Given the description of an element on the screen output the (x, y) to click on. 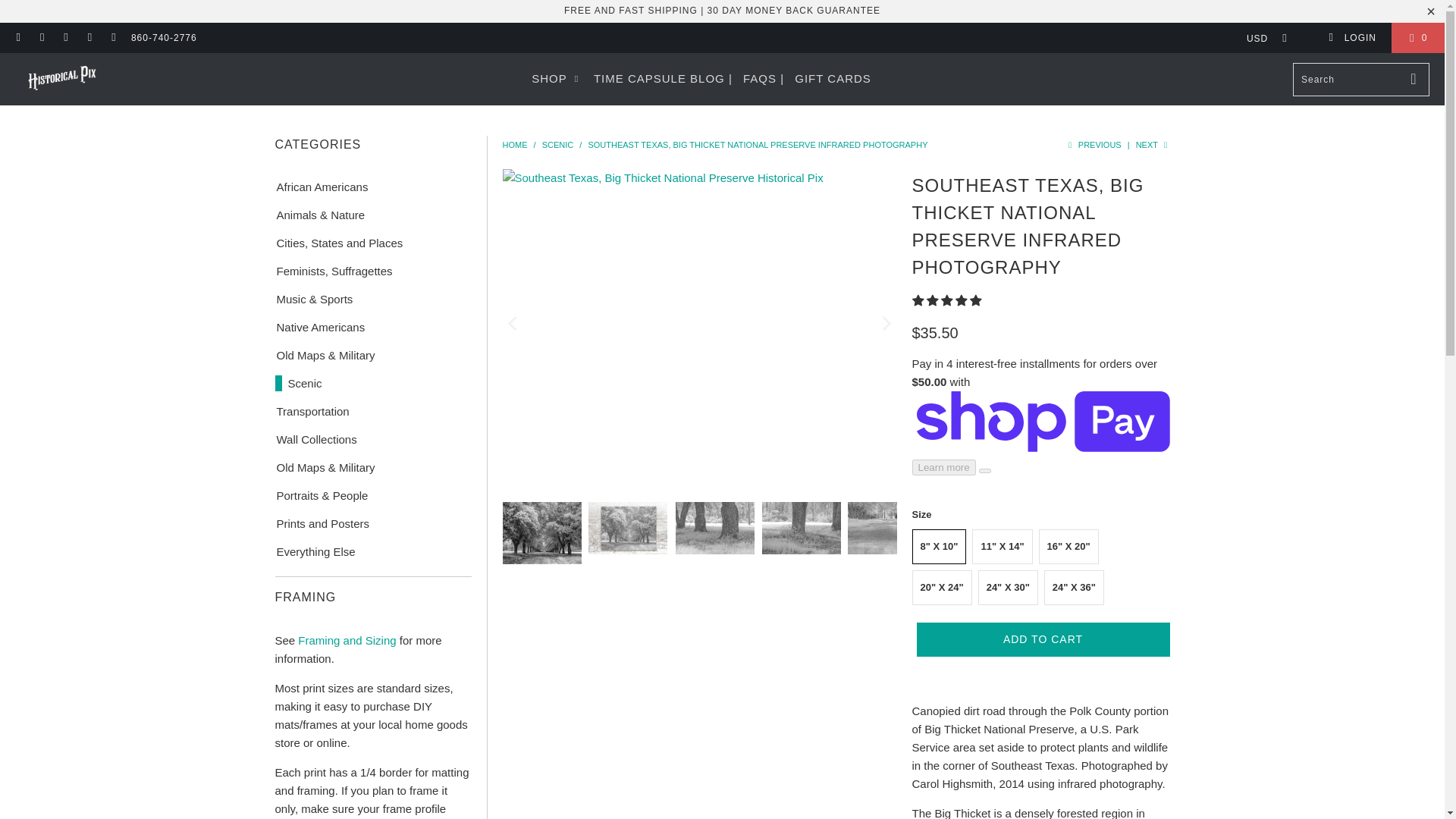
Previous (1092, 144)
Historical Pix on Instagram (89, 37)
Historical Pix on Facebook (17, 37)
My Account  (1351, 37)
USD (1262, 37)
Historical Pix on Pinterest (65, 37)
Email Historical Pix (112, 37)
Next (1152, 144)
Scenic (557, 144)
Historical Pix (62, 78)
